Given the description of an element on the screen output the (x, y) to click on. 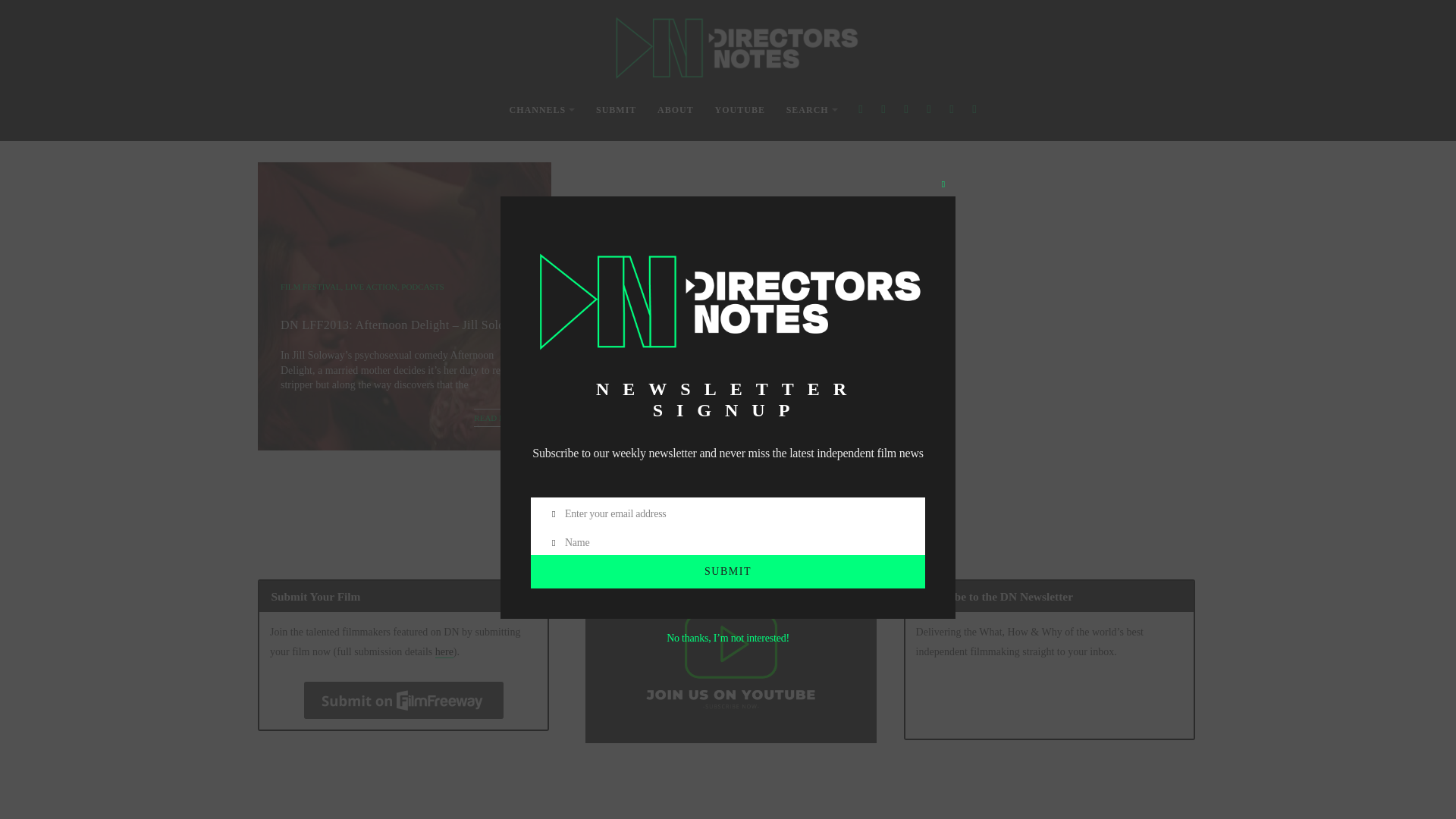
Click to submit on FilmFreeway (403, 700)
SUBMIT (615, 31)
Twitter (882, 30)
CHANNELS (542, 31)
Close this module (943, 104)
PODCASTS (422, 286)
You Tube (928, 30)
here (443, 652)
Vimeo (951, 30)
Directors Notes on YouTube (730, 660)
YOUTUBE (739, 31)
LinkedIn (973, 30)
ABOUT (676, 31)
FILM FESTIVAL (310, 286)
Instagram (906, 30)
